Given the description of an element on the screen output the (x, y) to click on. 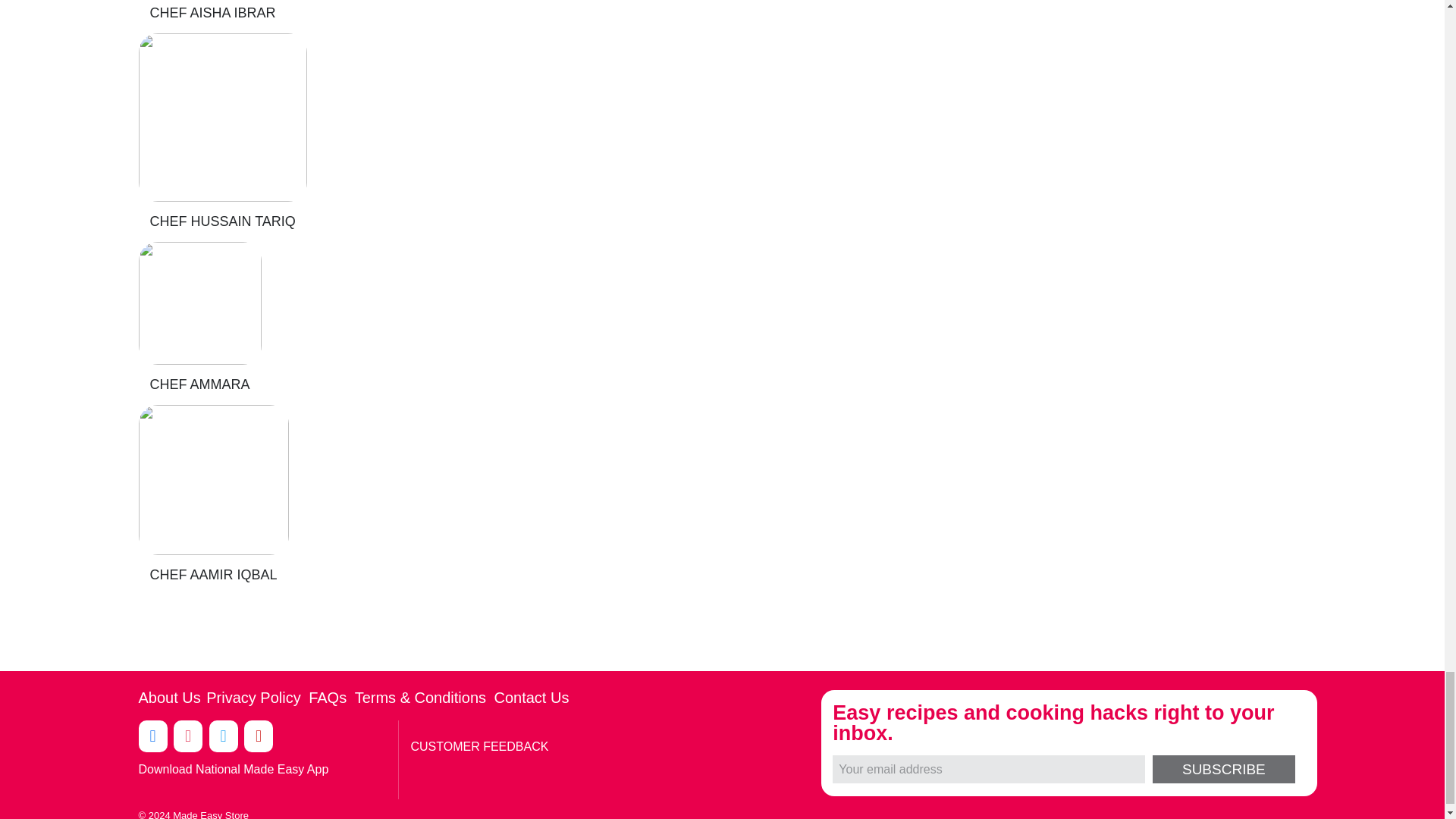
Subscribe (1223, 768)
